Given the description of an element on the screen output the (x, y) to click on. 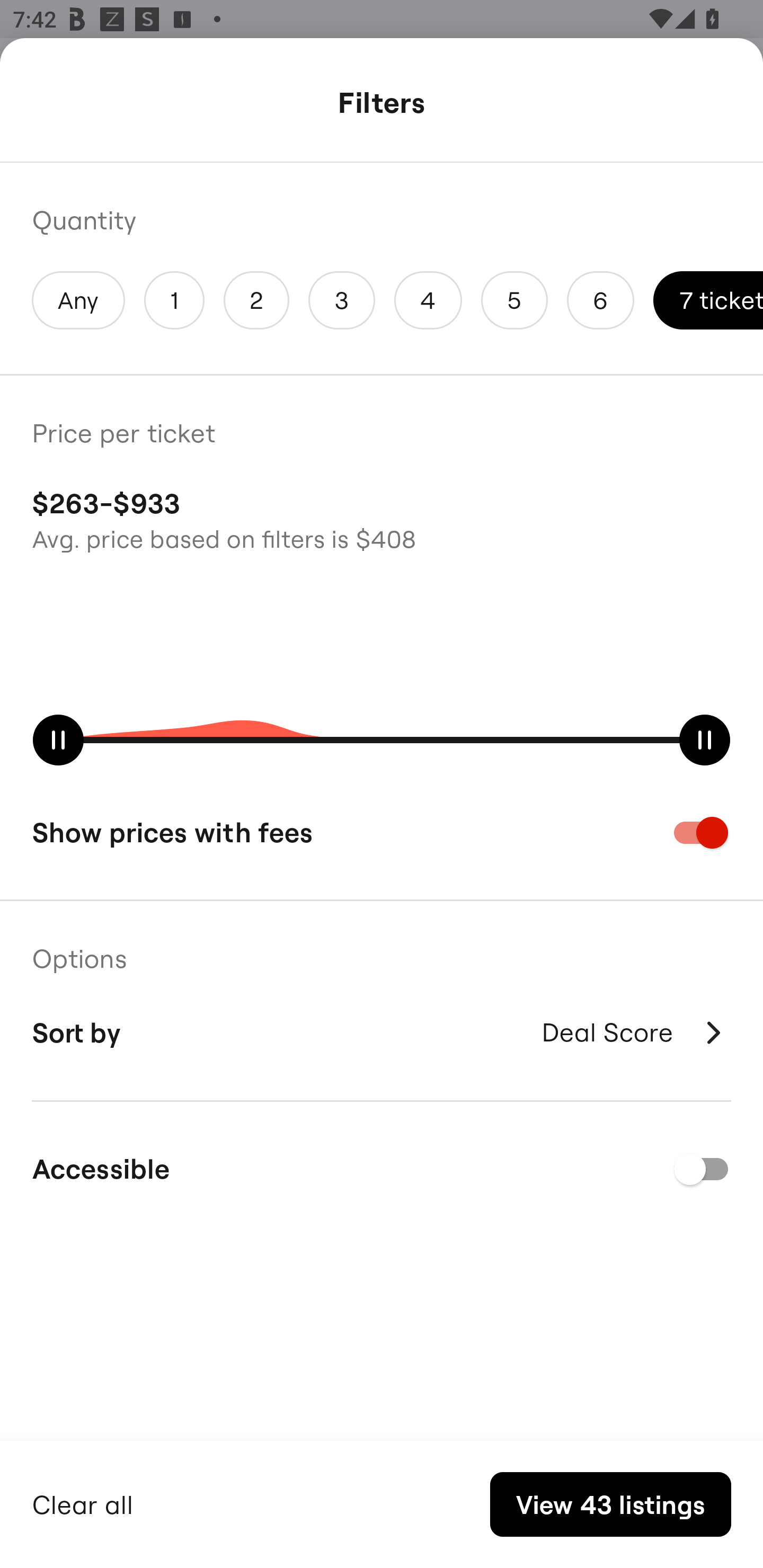
Any (78, 300)
1 (173, 300)
2 (256, 300)
3 (341, 300)
4 (427, 300)
5 (514, 300)
6 (601, 300)
7 tickets (708, 300)
$263-$933 Avg. price based on filters is $408 (381, 518)
Show prices with fees (381, 832)
Sort by Deal Score (381, 1032)
Accessible (381, 1168)
Clear all (83, 1502)
View 43 listings (609, 1504)
